Given the description of an element on the screen output the (x, y) to click on. 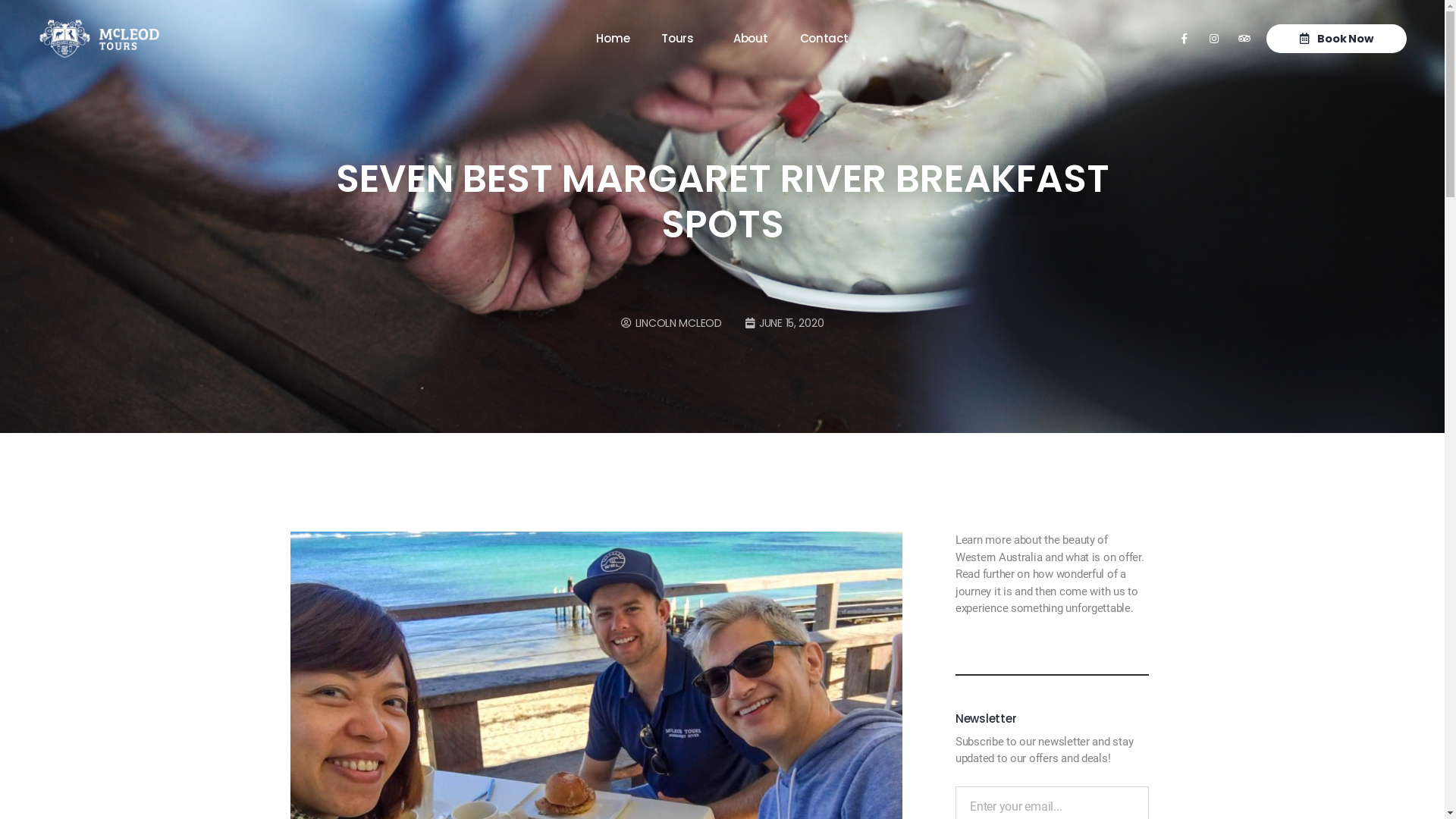
Contact Element type: text (823, 38)
Home Element type: text (612, 38)
Tours Element type: text (681, 38)
About Element type: text (750, 38)
Book Now Element type: text (1336, 38)
